Given the description of an element on the screen output the (x, y) to click on. 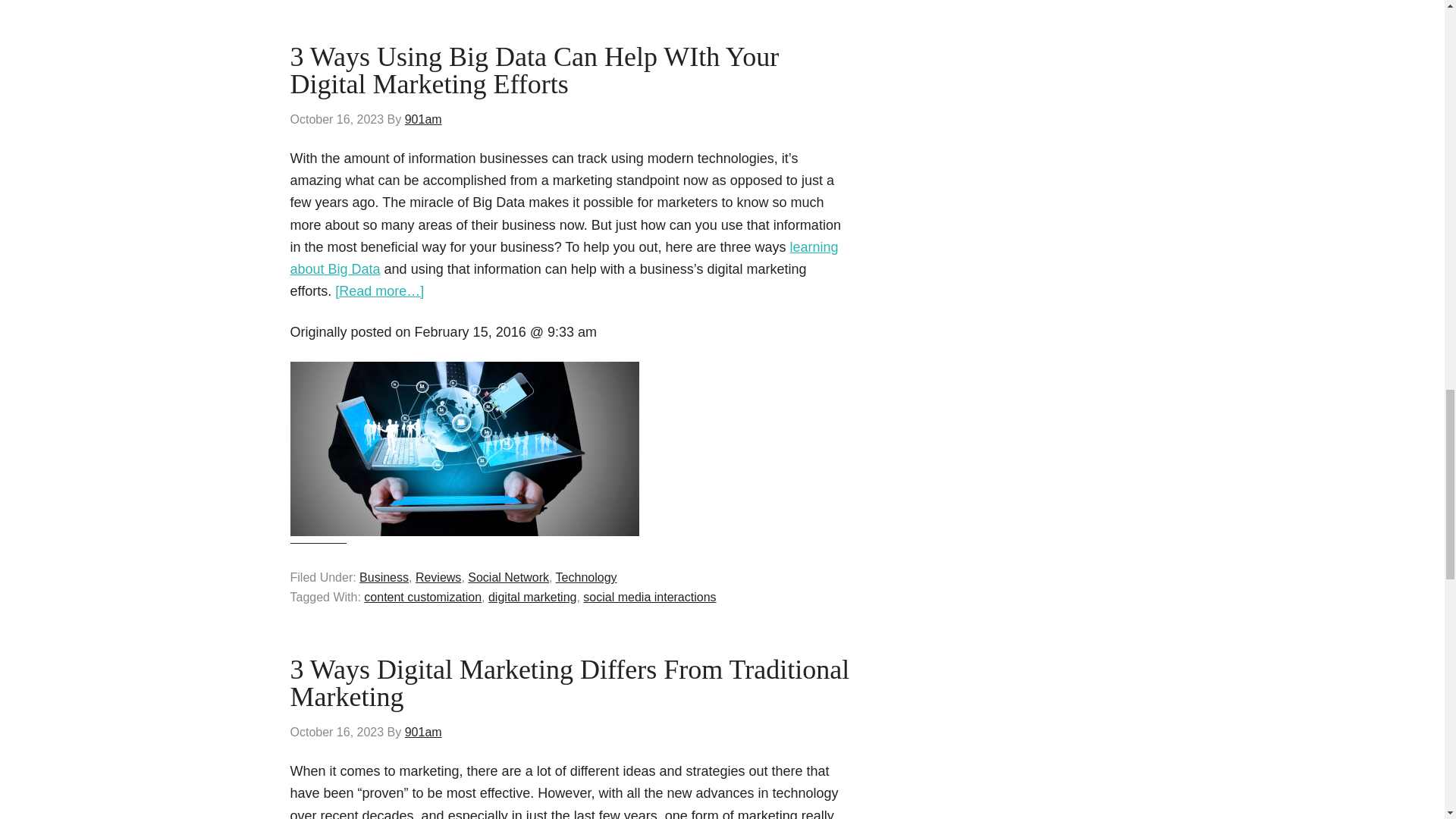
901am (423, 731)
social media interactions (649, 596)
content customization (422, 596)
learning about Big Data (563, 257)
digital marketing (531, 596)
3 Ways Digital Marketing Differs From Traditional Marketing (568, 682)
Technology (586, 576)
Business (384, 576)
Reviews (437, 576)
